Given the description of an element on the screen output the (x, y) to click on. 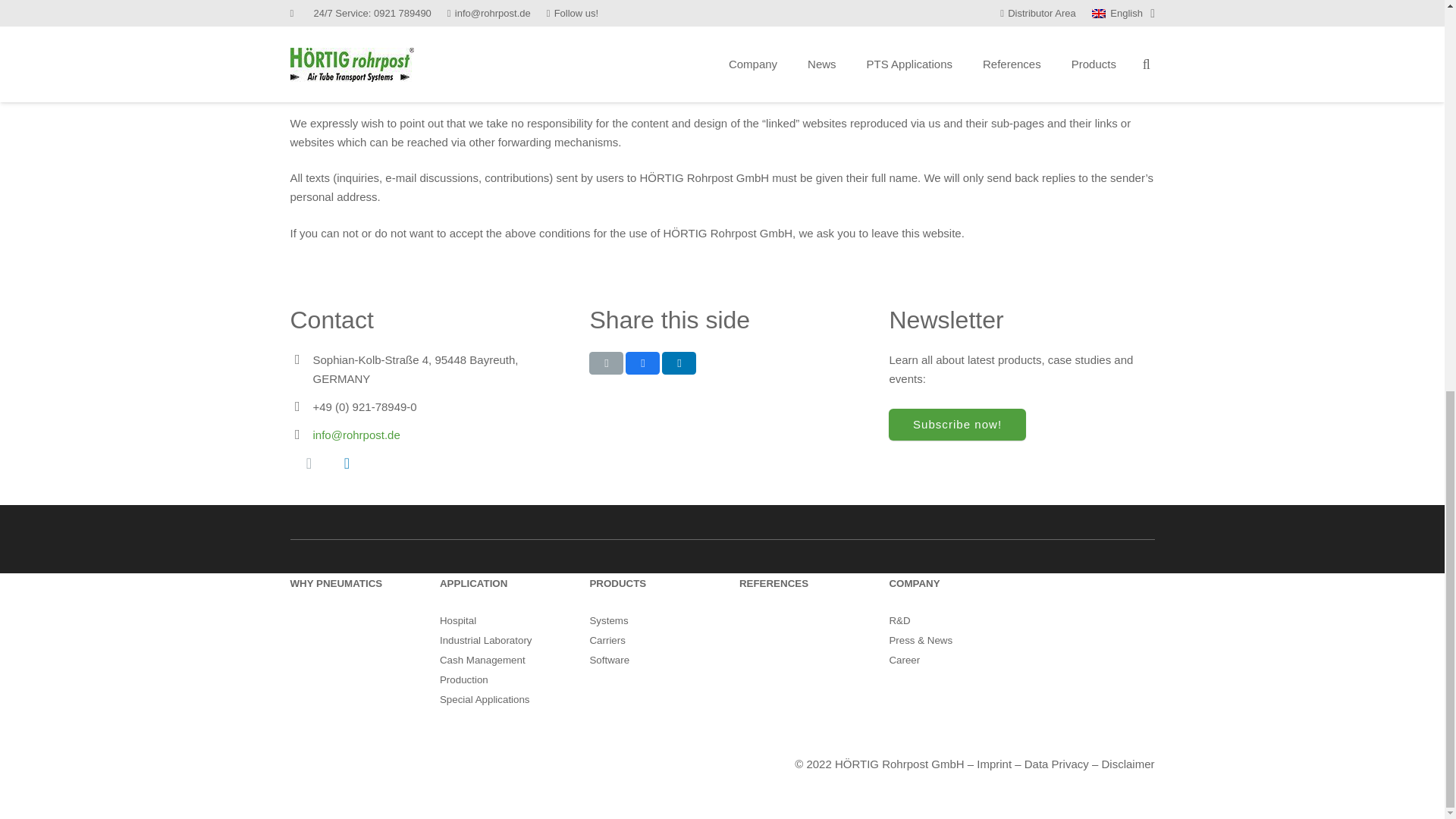
Email this (606, 363)
Share this (642, 363)
Share this (678, 363)
LinkedIn (346, 463)
Back to top (1413, 98)
Email (308, 463)
